Given the description of an element on the screen output the (x, y) to click on. 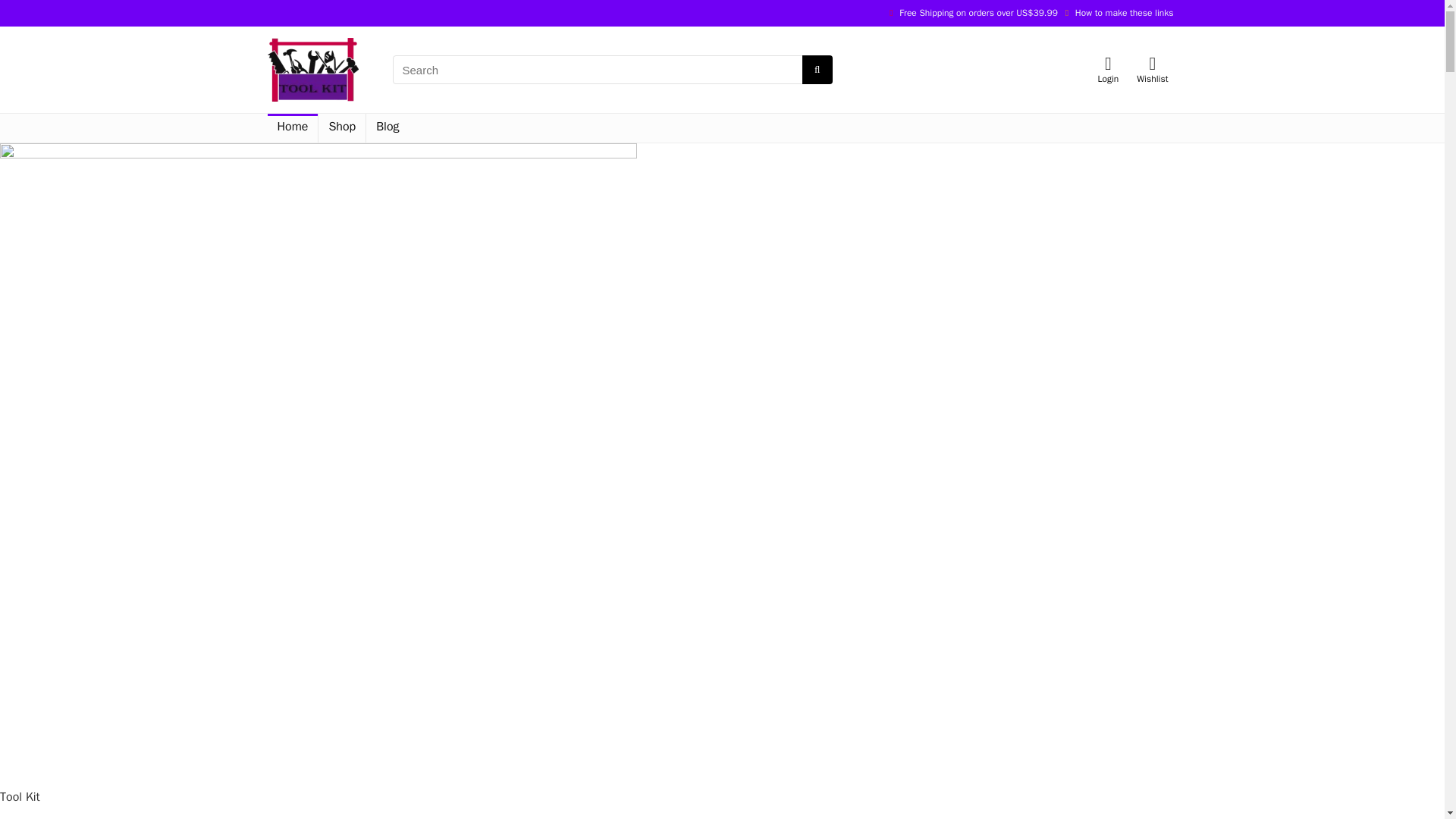
Shop (341, 127)
Blog (387, 127)
How to make these links (1124, 12)
Home (291, 127)
